Given the description of an element on the screen output the (x, y) to click on. 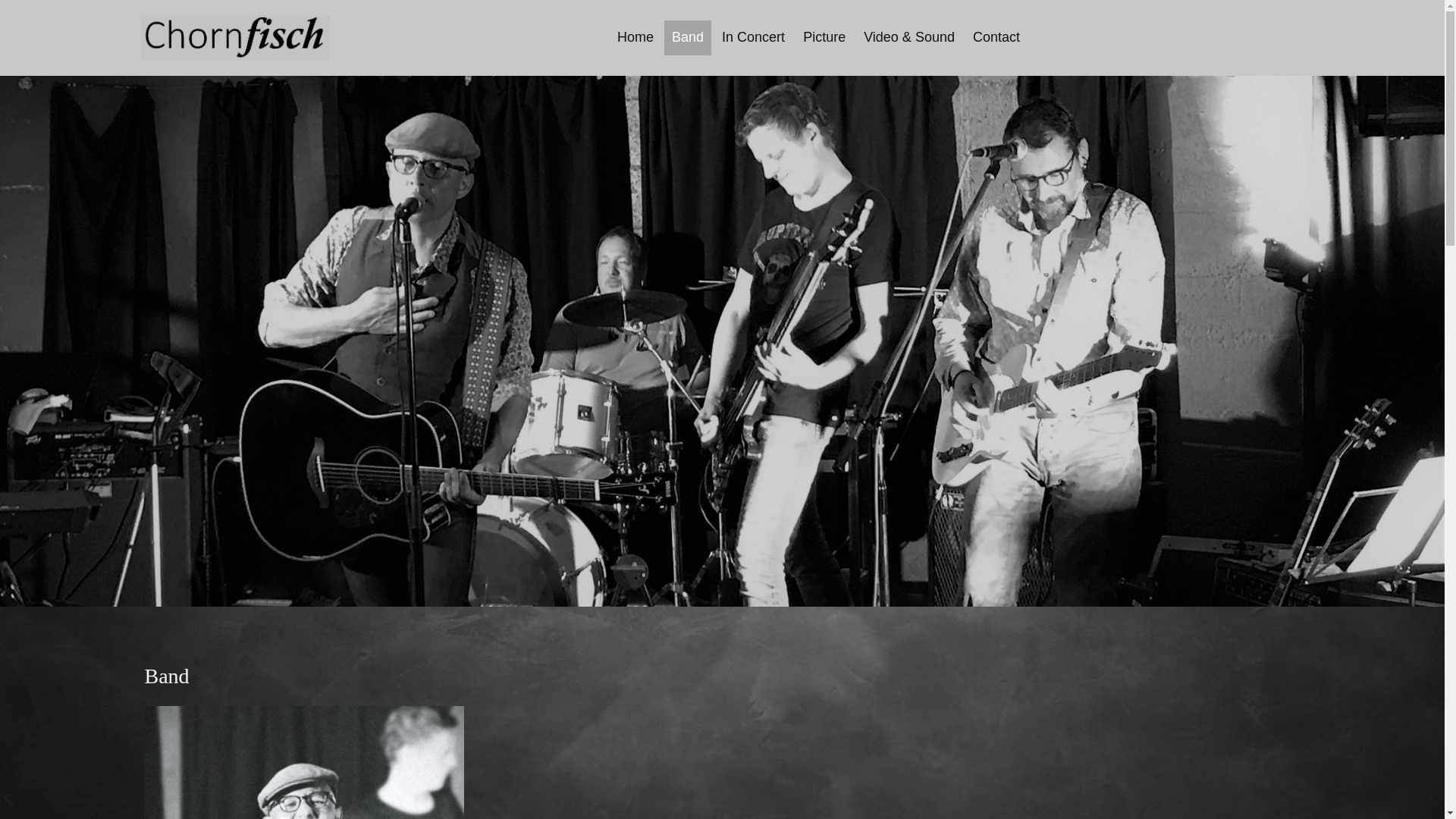
Video & Sound Element type: text (908, 36)
Picture Element type: text (824, 36)
In Concert Element type: text (752, 36)
Contact Element type: text (995, 36)
Band Element type: text (687, 36)
  Element type: text (234, 36)
Home Element type: text (635, 36)
